Given the description of an element on the screen output the (x, y) to click on. 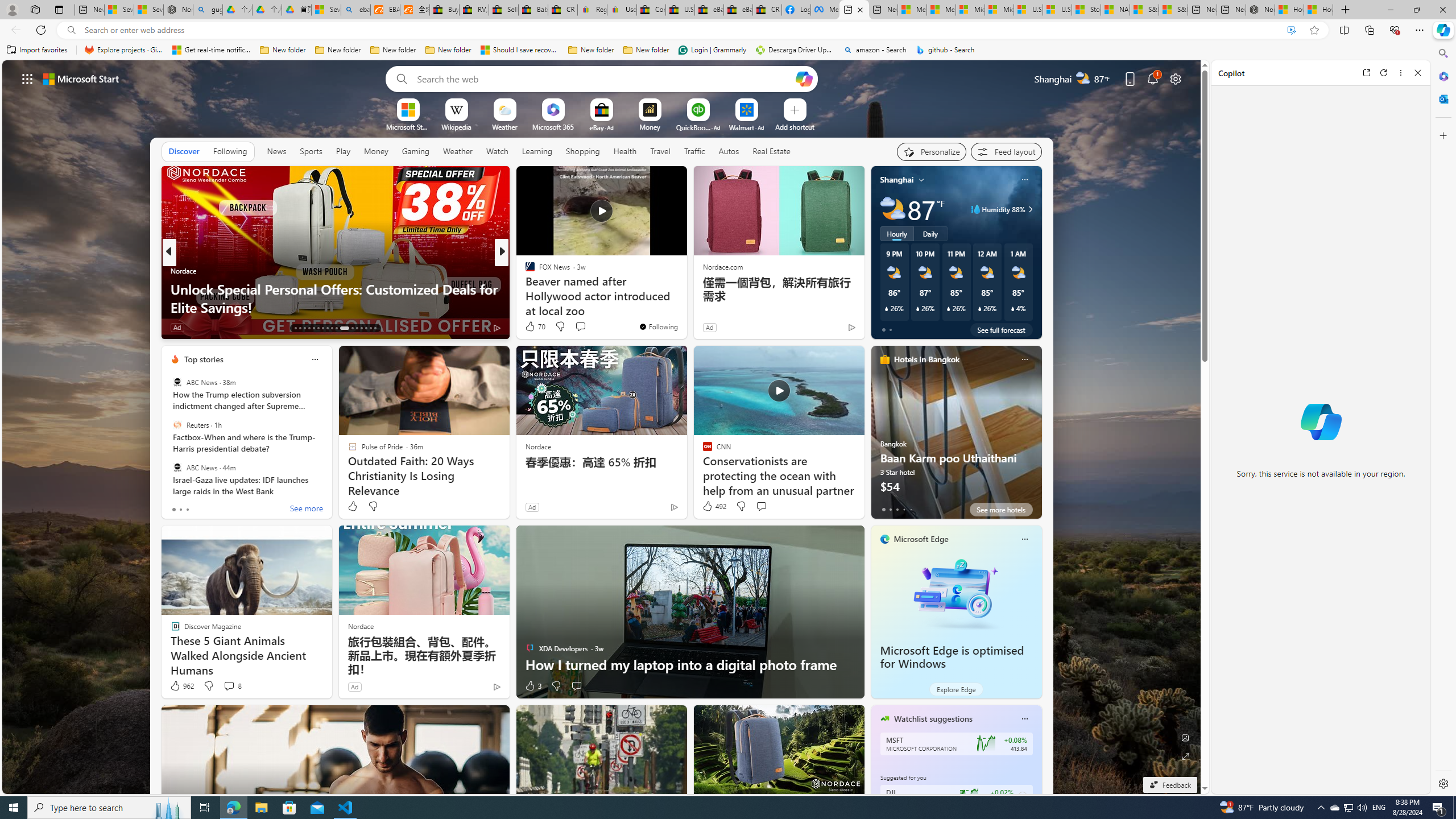
Men's Health (524, 270)
Watch (496, 151)
See more (672, 179)
AutomationID: tab-13 (295, 328)
Enter your search term (603, 78)
App launcher (27, 78)
User Privacy Notice | eBay (622, 9)
See more (306, 509)
Dislike (556, 685)
AutomationID: tab-25 (356, 328)
Workspaces (34, 9)
Settings and more (Alt+F) (1419, 29)
hotels-header-icon (884, 358)
315 Like (532, 327)
